Given the description of an element on the screen output the (x, y) to click on. 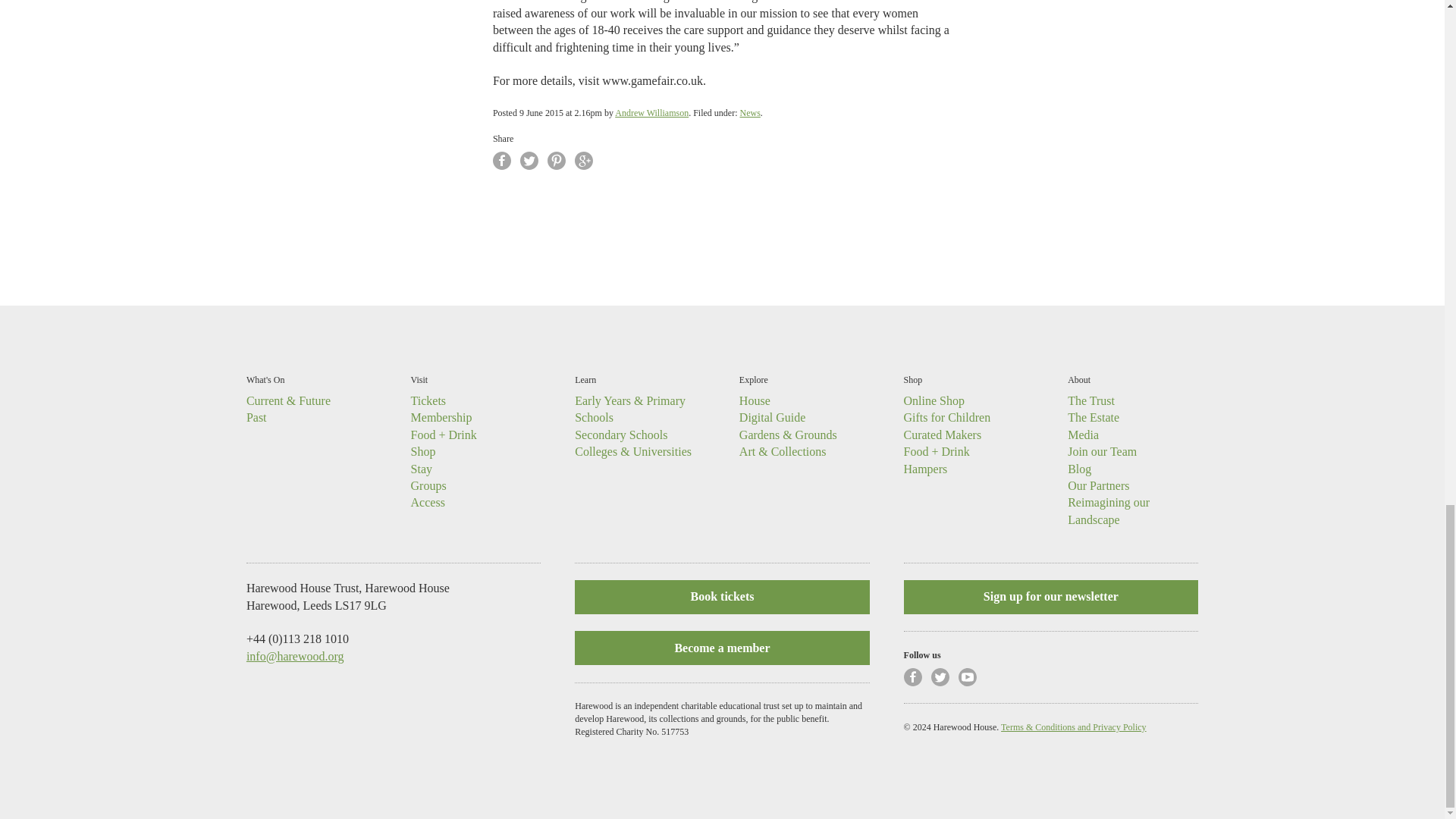
About (1078, 379)
What's On (264, 379)
Explore (753, 379)
Visit (419, 379)
Learn (585, 379)
